Given the description of an element on the screen output the (x, y) to click on. 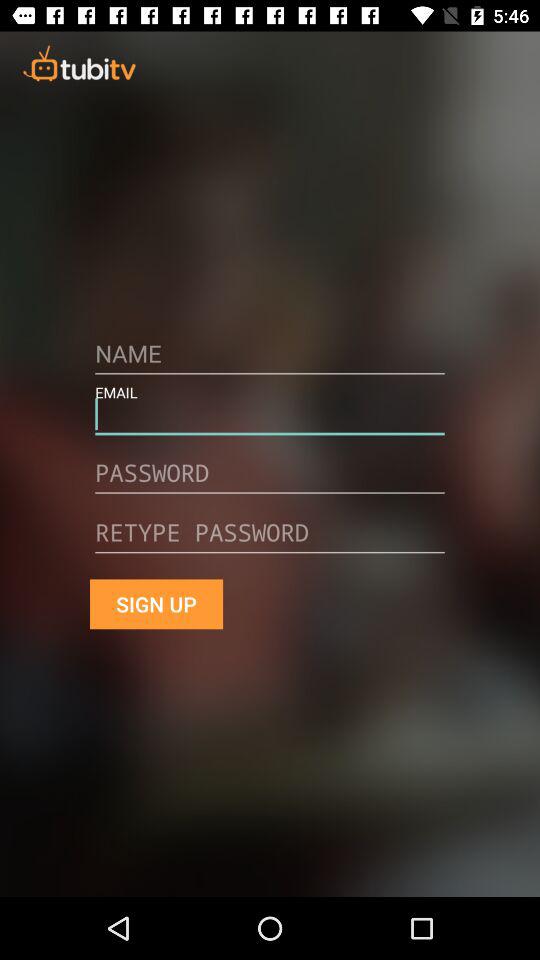
enter and/or edit password (270, 480)
